Given the description of an element on the screen output the (x, y) to click on. 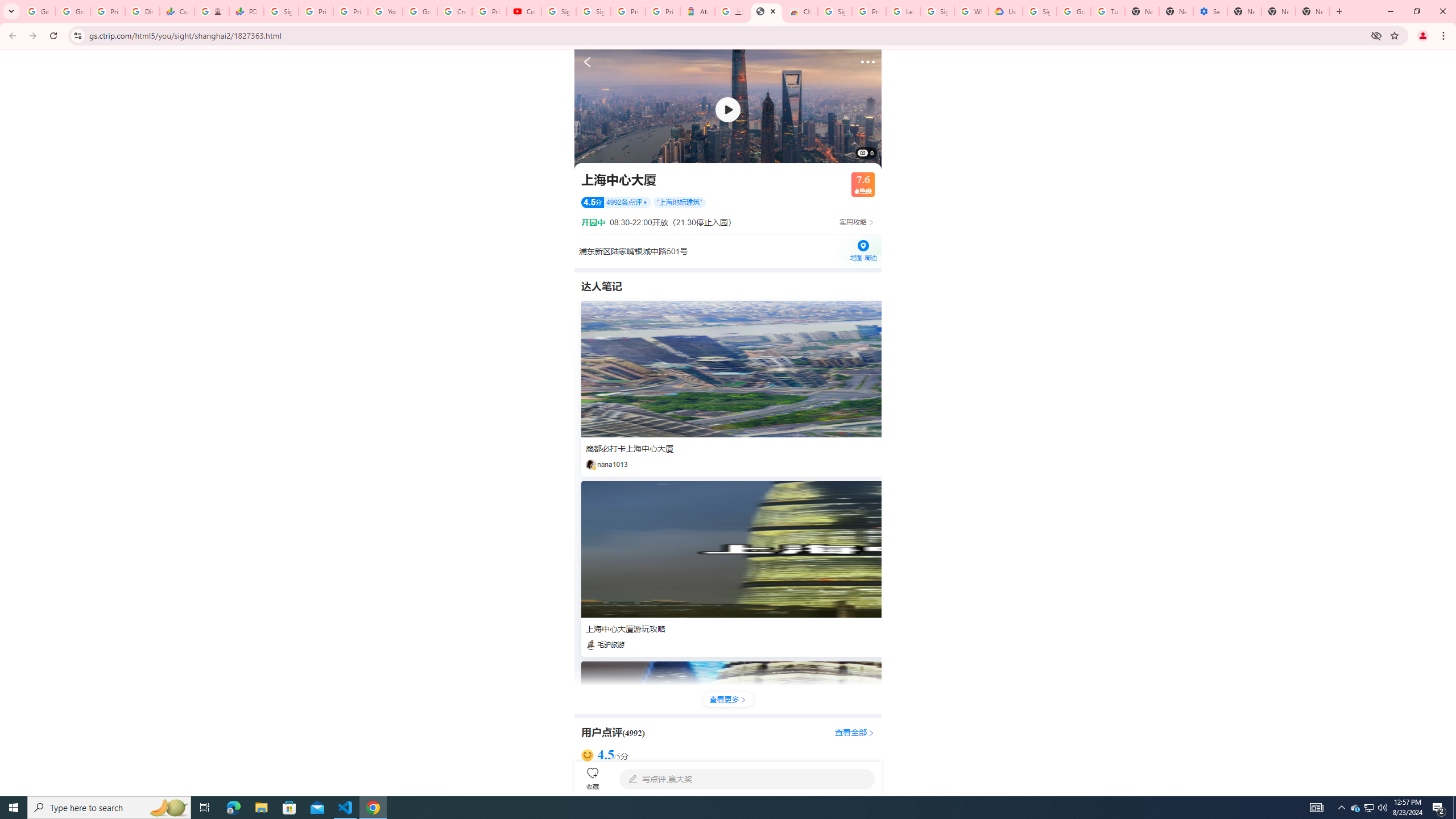
Sign in - Google Accounts (937, 11)
New Tab (1312, 11)
Chrome (1445, 35)
Chrome Web Store (800, 11)
You (1422, 35)
